Given the description of an element on the screen output the (x, y) to click on. 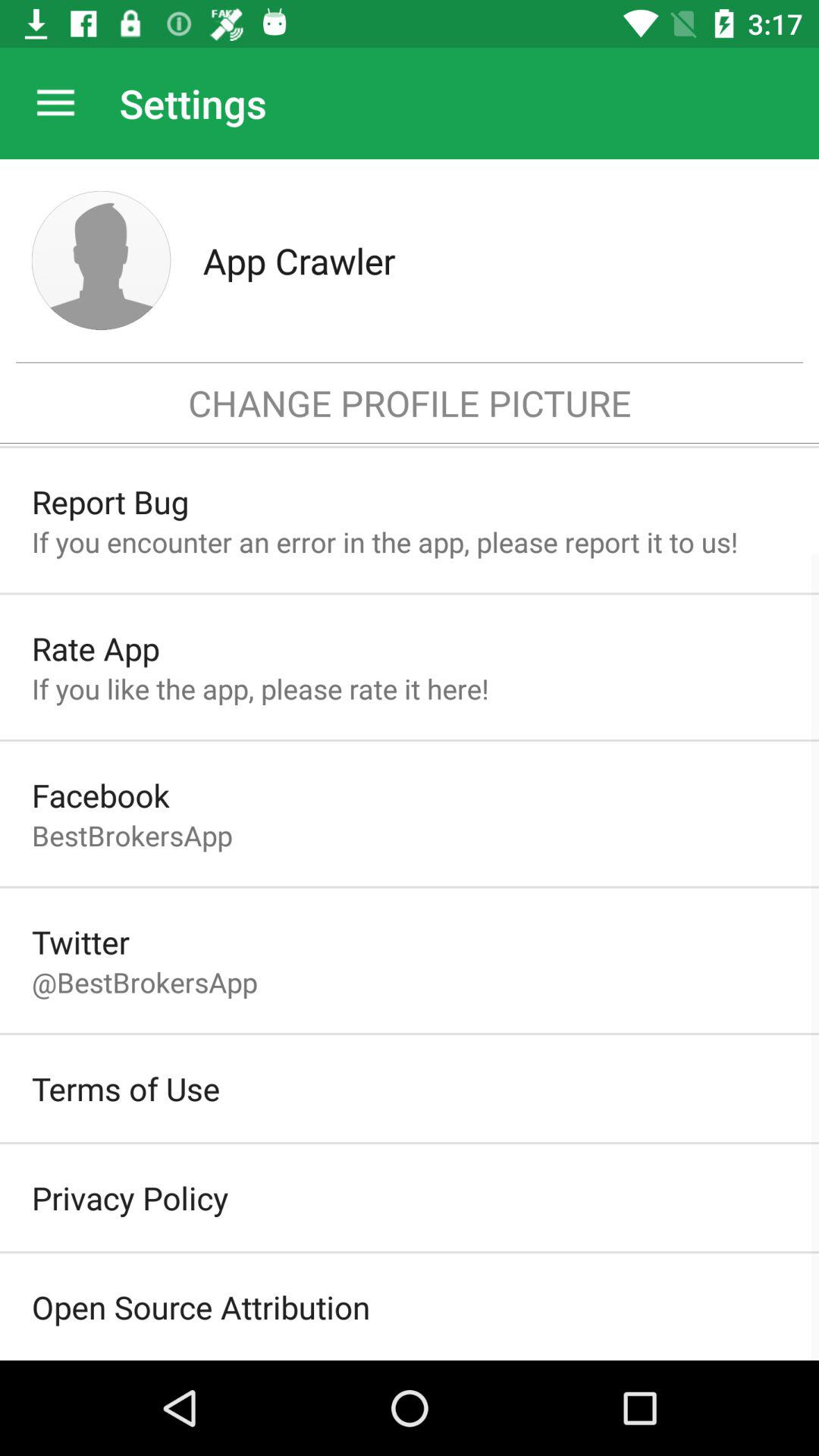
profile picture changing (101, 260)
